Given the description of an element on the screen output the (x, y) to click on. 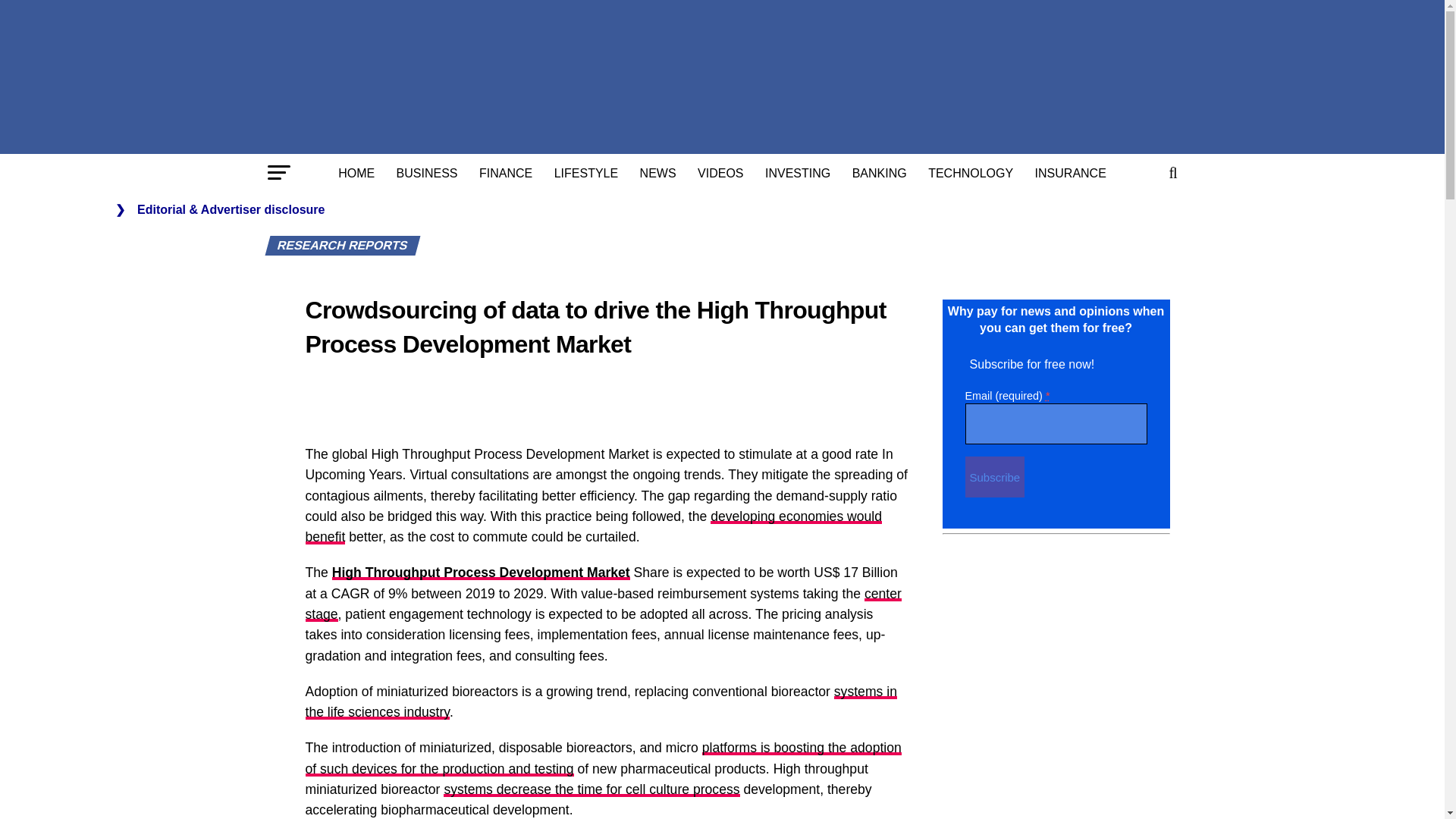
News (657, 173)
Lifestyle (585, 173)
NEWS (657, 173)
Subscribe (994, 476)
BUSINESS (427, 173)
FINANCE (505, 173)
Home (356, 173)
Business (427, 173)
HOME (356, 173)
LIFESTYLE (585, 173)
